Given the description of an element on the screen output the (x, y) to click on. 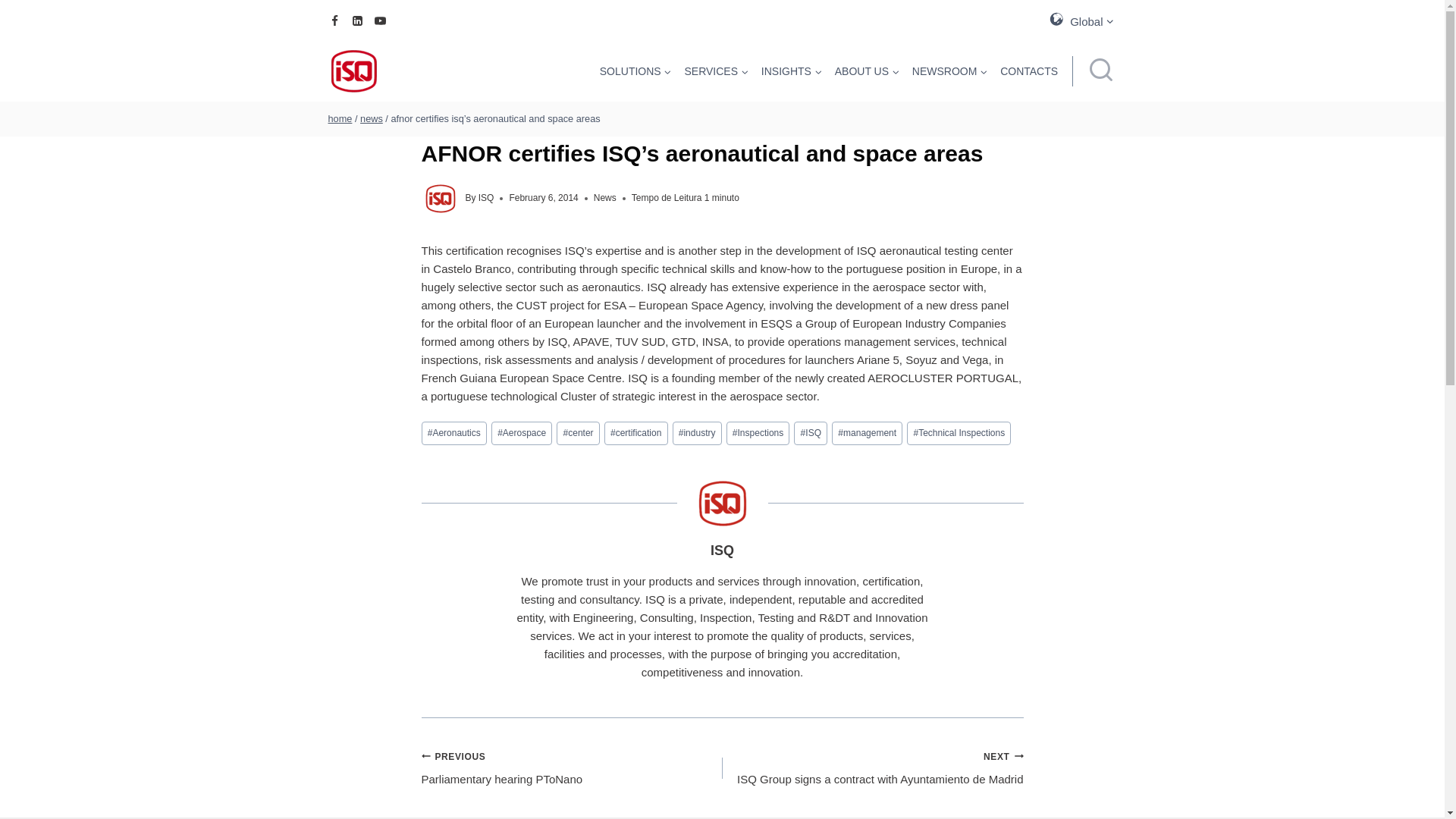
ISQ (810, 433)
certification (636, 433)
SERVICES (716, 70)
SOLUTIONS (635, 70)
industry (697, 433)
Posts by ISQ (721, 549)
Aeronautics (454, 433)
management (866, 433)
Inspections (758, 433)
Technical Inspections (958, 433)
center (577, 433)
Aerospace (521, 433)
Global (1081, 20)
